Given the description of an element on the screen output the (x, y) to click on. 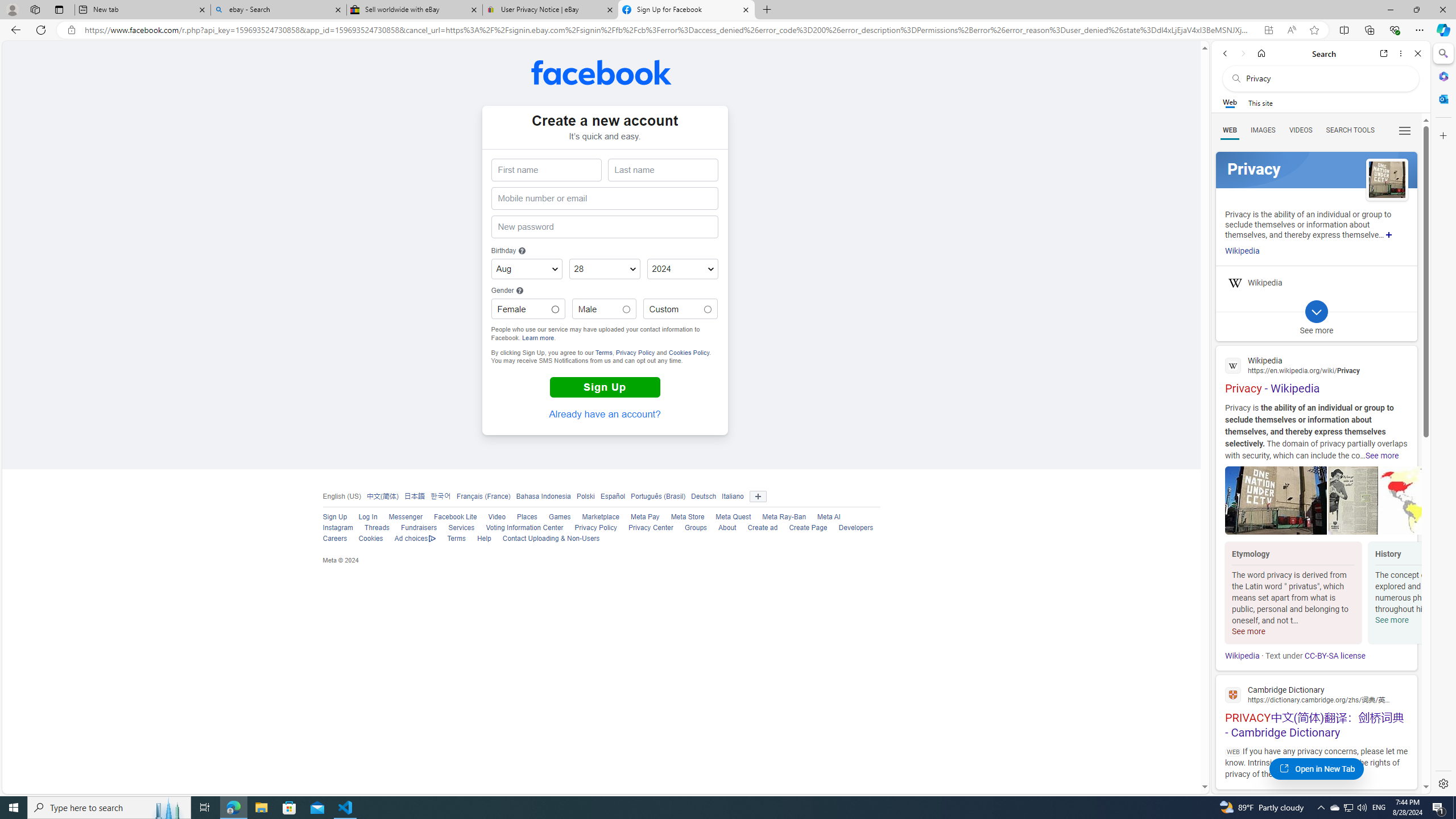
Groups (695, 528)
Privacy Center (644, 527)
Meta Store (687, 516)
Last name (662, 169)
Meta AI (823, 517)
Contact Uploading & Non-Users (550, 538)
Meta Pay (644, 516)
Meta Ray-Ban (778, 517)
